Given the description of an element on the screen output the (x, y) to click on. 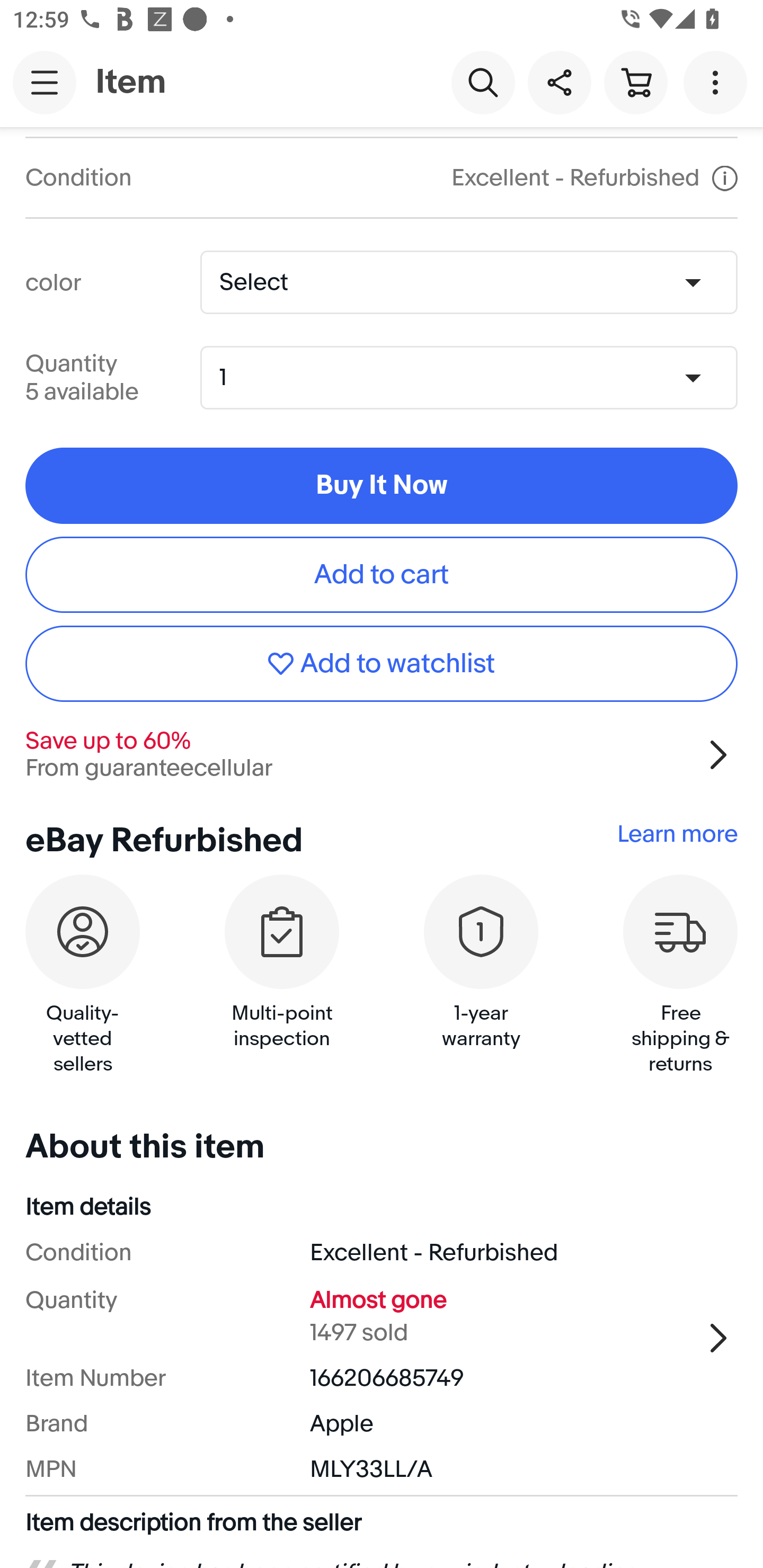
Main navigation, open (44, 82)
Search (482, 81)
Share this item (559, 81)
Cart button shopping cart (635, 81)
More options (718, 81)
color,No selection Select (468, 282)
Quantity,1,5 available 1 (474, 377)
Buy It Now (381, 484)
Add to cart (381, 574)
Add to watchlist (381, 663)
Save up to 60% From guaranteecellular (381, 754)
Learn more (676, 834)
